Given the description of an element on the screen output the (x, y) to click on. 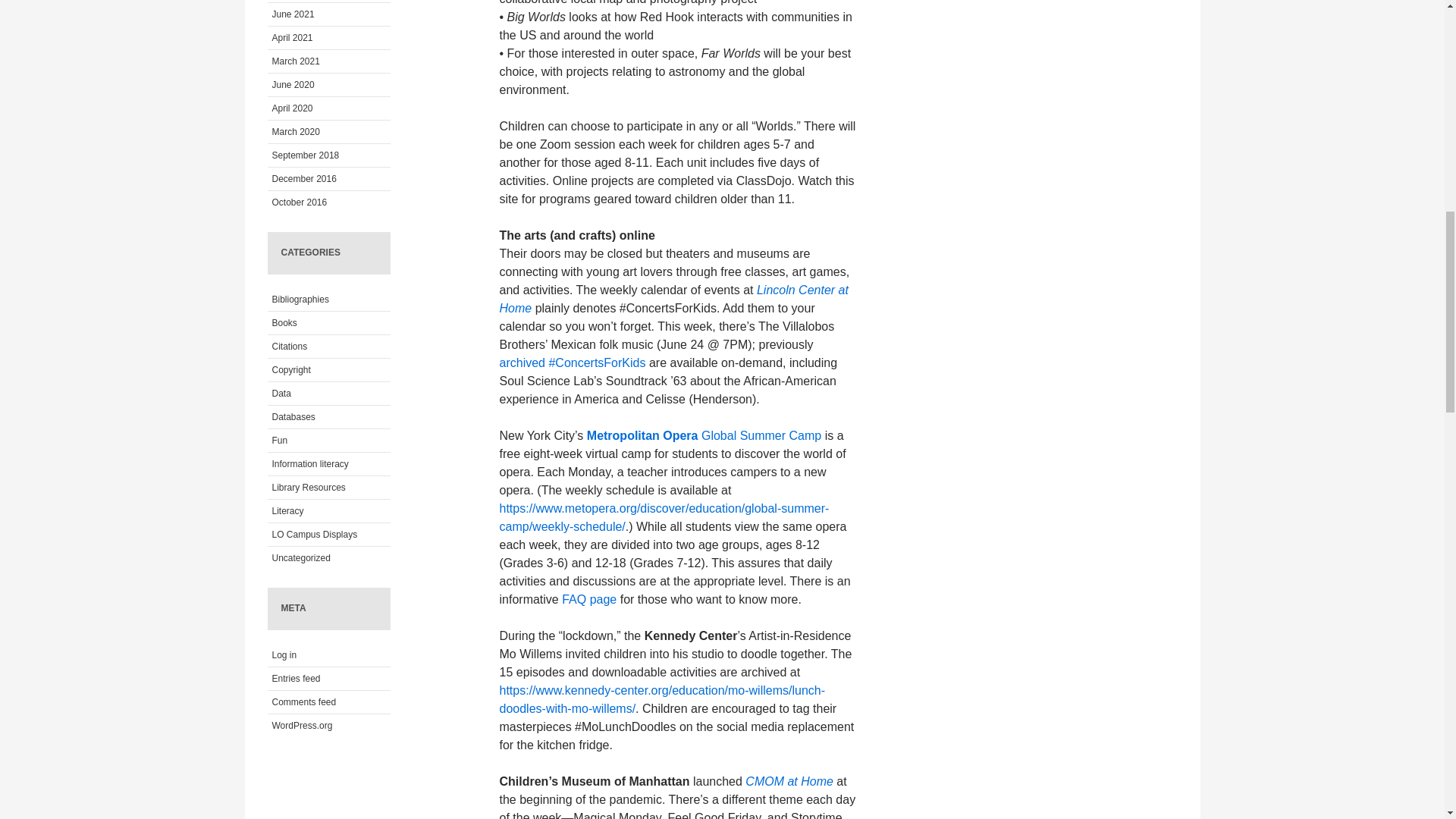
Metropolitan Opera Global Summer Camp (703, 435)
FAQ page (588, 599)
Lincoln Center at Home (673, 298)
CMOM at Home  (790, 780)
